Given the description of an element on the screen output the (x, y) to click on. 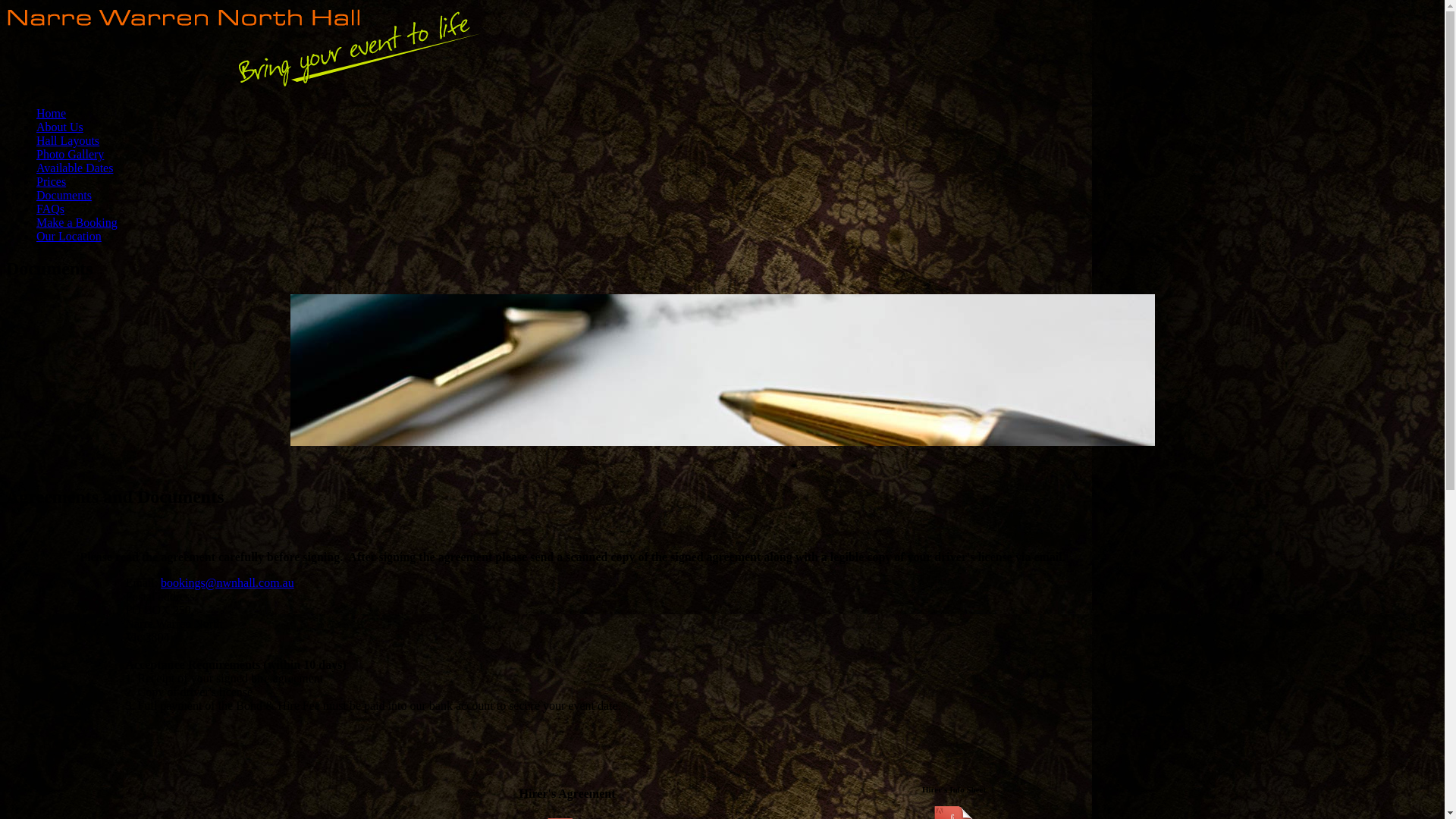
About Us Element type: text (59, 126)
Hall Layouts Element type: text (67, 140)
FAQs Element type: text (50, 208)
Documents Element type: text (63, 194)
Our Location Element type: text (68, 235)
bookings@nwnhall.com.au Element type: text (227, 582)
Prices Element type: text (50, 181)
Make a Booking Element type: text (76, 222)
Available Dates Element type: text (74, 167)
Home Element type: text (50, 112)
Photo Gallery Element type: text (69, 153)
